Given the description of an element on the screen output the (x, y) to click on. 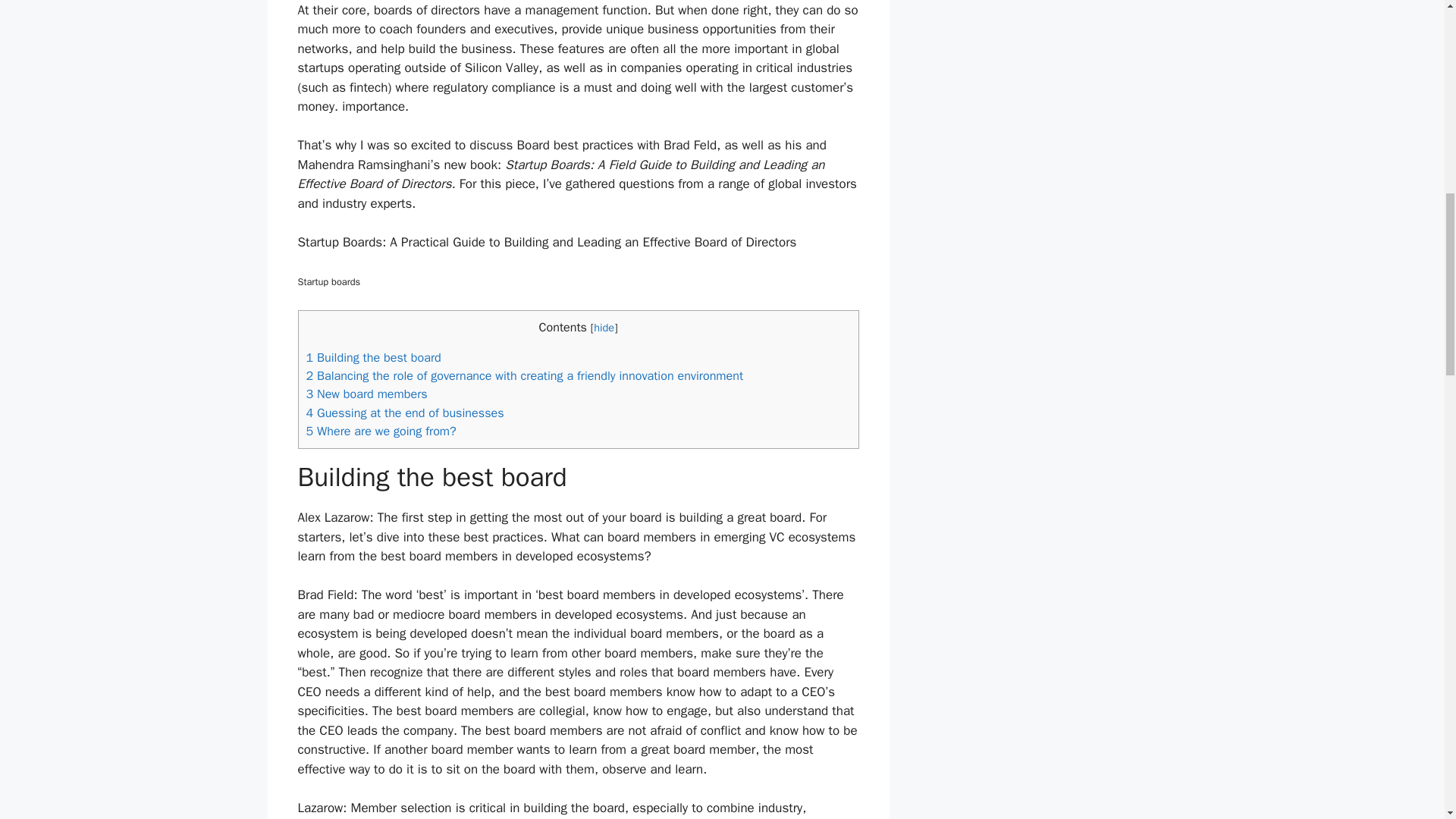
4 Guessing at the end of businesses (404, 412)
1 Building the best board (373, 357)
5 Where are we going from? (381, 430)
hide (604, 326)
3 New board members (366, 393)
